Given the description of an element on the screen output the (x, y) to click on. 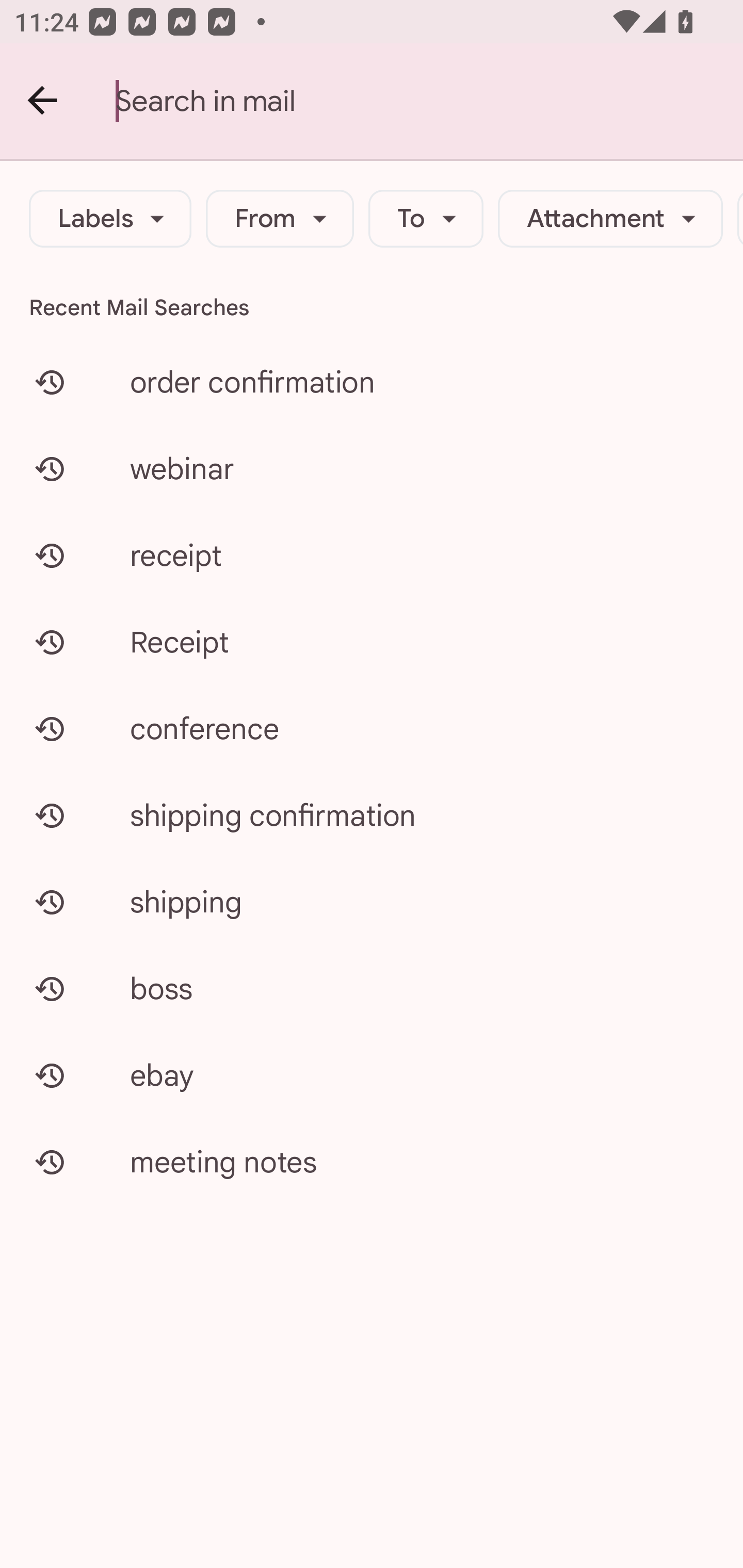
Back (43, 101)
Search in mail (429, 101)
Labels (109, 218)
From (279, 218)
To (425, 218)
Attachment (609, 218)
Recent Mail Searches (371, 306)
order confirmation Suggestion: order confirmation (371, 381)
webinar Suggestion: webinar (371, 468)
receipt Suggestion: receipt (371, 555)
Receipt Suggestion: Receipt (371, 641)
conference Suggestion: conference (371, 728)
shipping Suggestion: shipping (371, 902)
boss Suggestion: boss (371, 988)
ebay Suggestion: ebay (371, 1074)
meeting notes Suggestion: meeting notes (371, 1161)
